Given the description of an element on the screen output the (x, y) to click on. 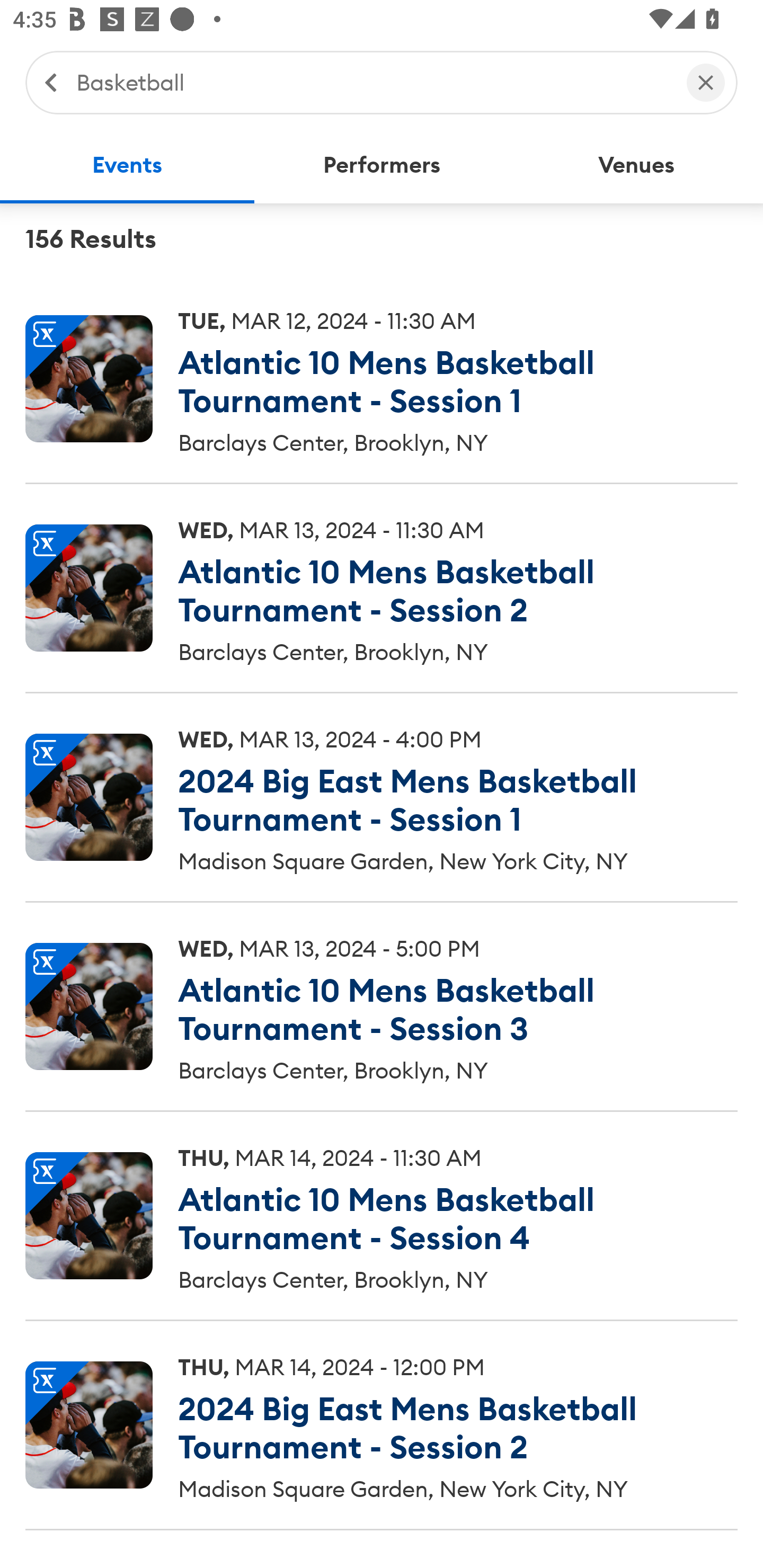
Basketball (371, 81)
Clear Search (705, 81)
Performers (381, 165)
Venues (635, 165)
